Given the description of an element on the screen output the (x, y) to click on. 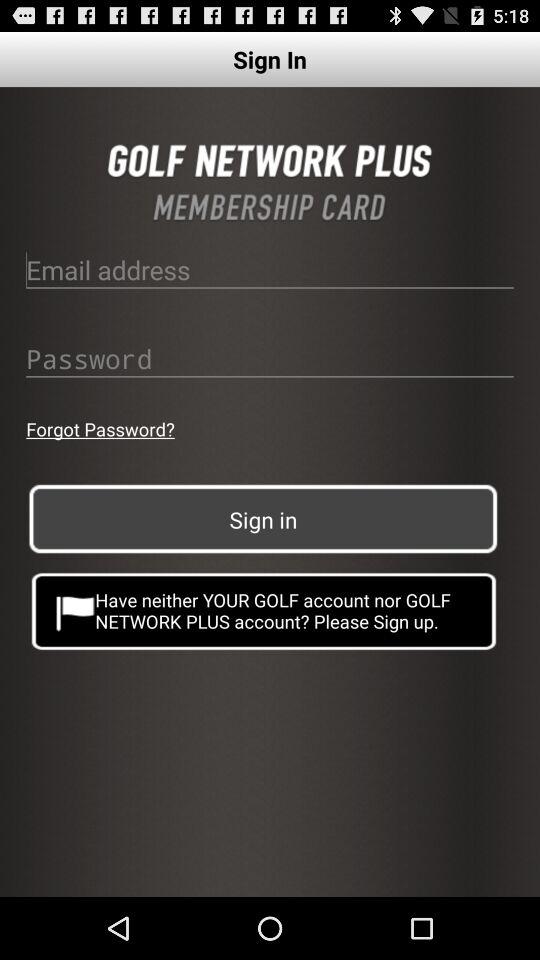
swipe until forgot password? (100, 428)
